Given the description of an element on the screen output the (x, y) to click on. 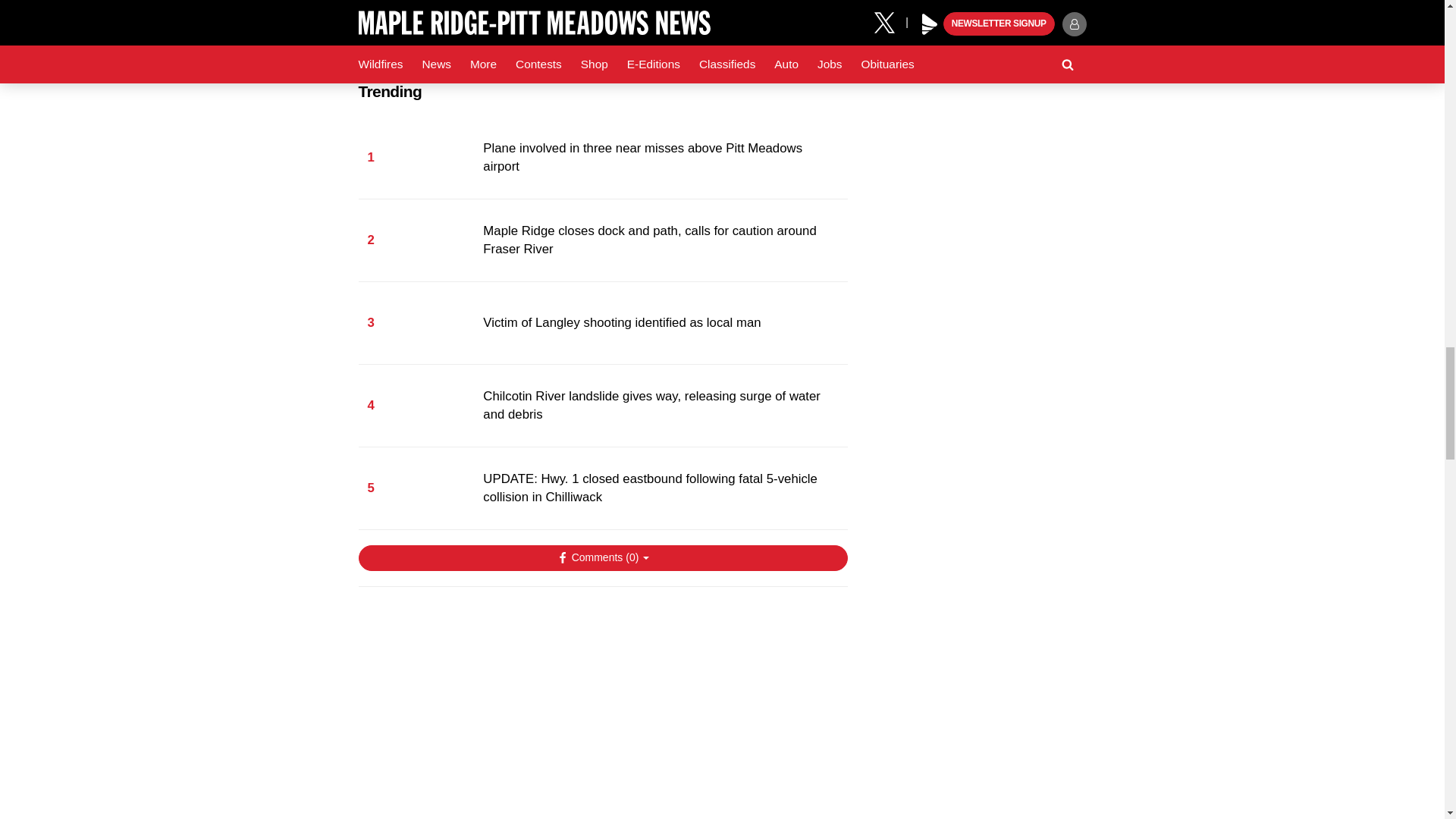
Login (727, 768)
This has been shared 0 times (478, 768)
Show Comments (602, 557)
